Given the description of an element on the screen output the (x, y) to click on. 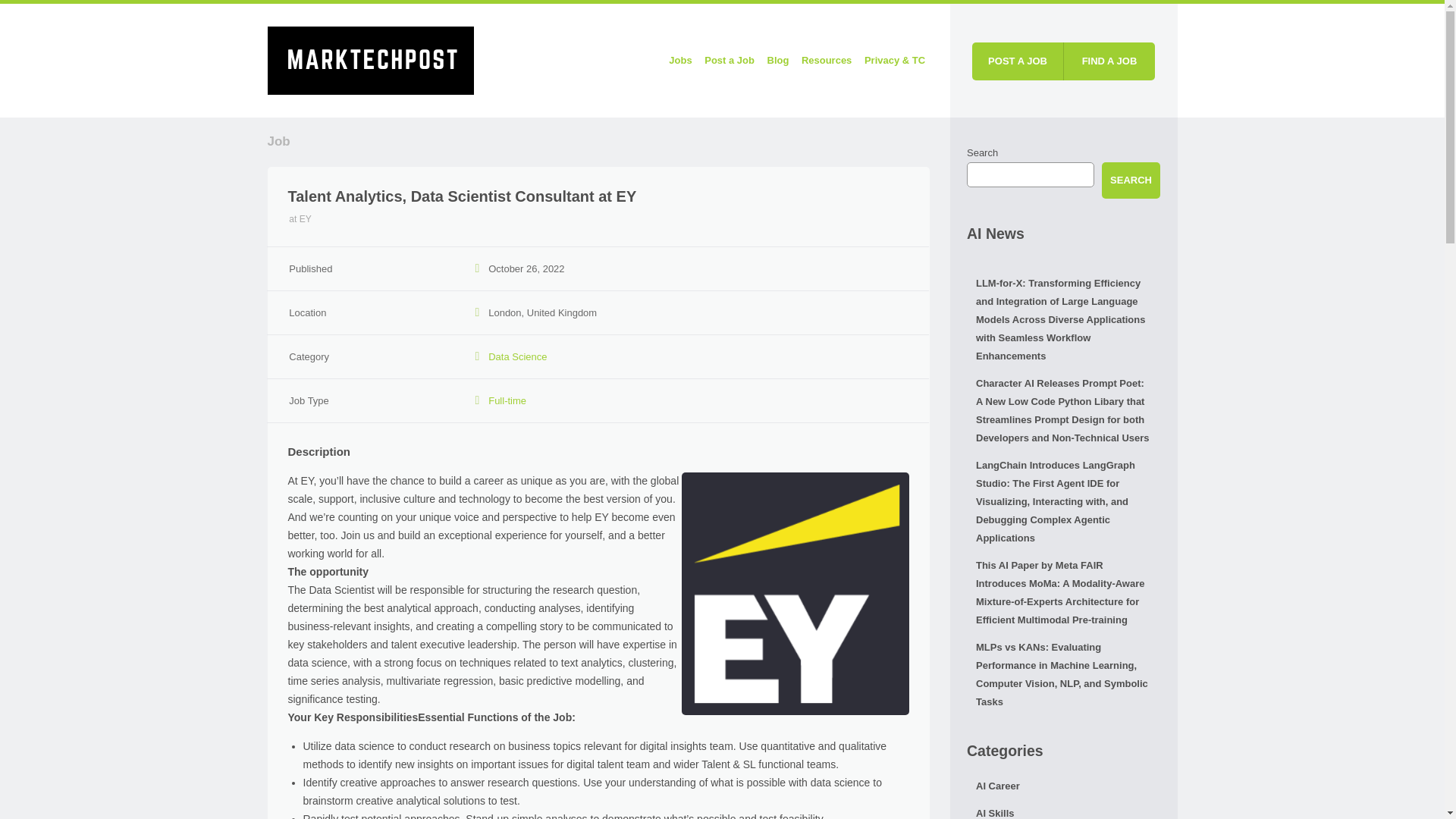
Resources (826, 60)
Skip to content (588, 60)
Skip to content (588, 60)
Jobs (680, 60)
SEARCH (1131, 180)
Post a Job (730, 60)
AI Skills (1063, 809)
Blog (777, 60)
AI Jobs (369, 58)
FIND A JOB (1108, 61)
